Given the description of an element on the screen output the (x, y) to click on. 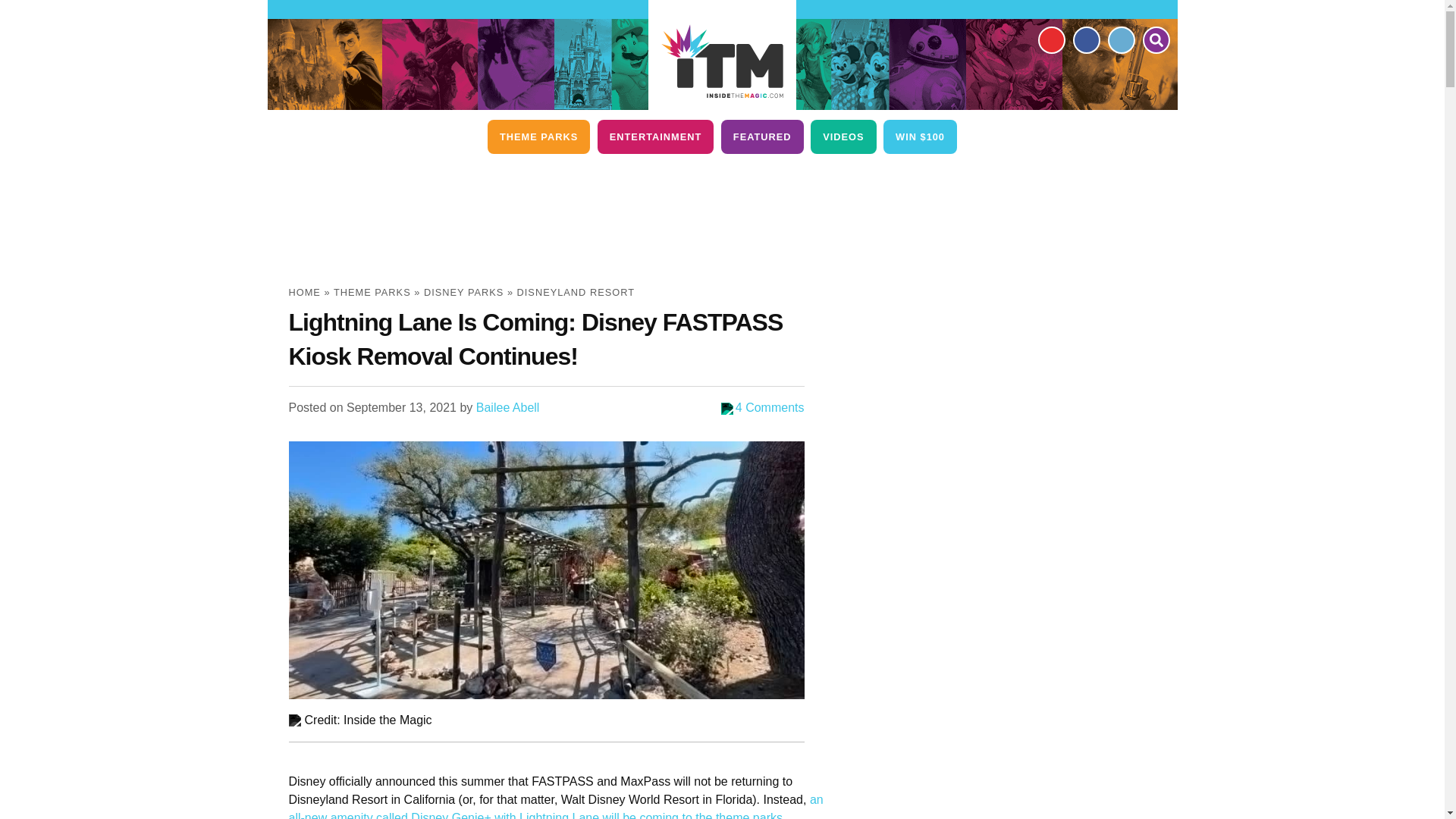
THEME PARKS (538, 136)
Search (1155, 40)
YouTube (1050, 40)
ENTERTAINMENT (655, 136)
Twitter (1120, 40)
Facebook (1085, 40)
FEATURED (761, 136)
